Given the description of an element on the screen output the (x, y) to click on. 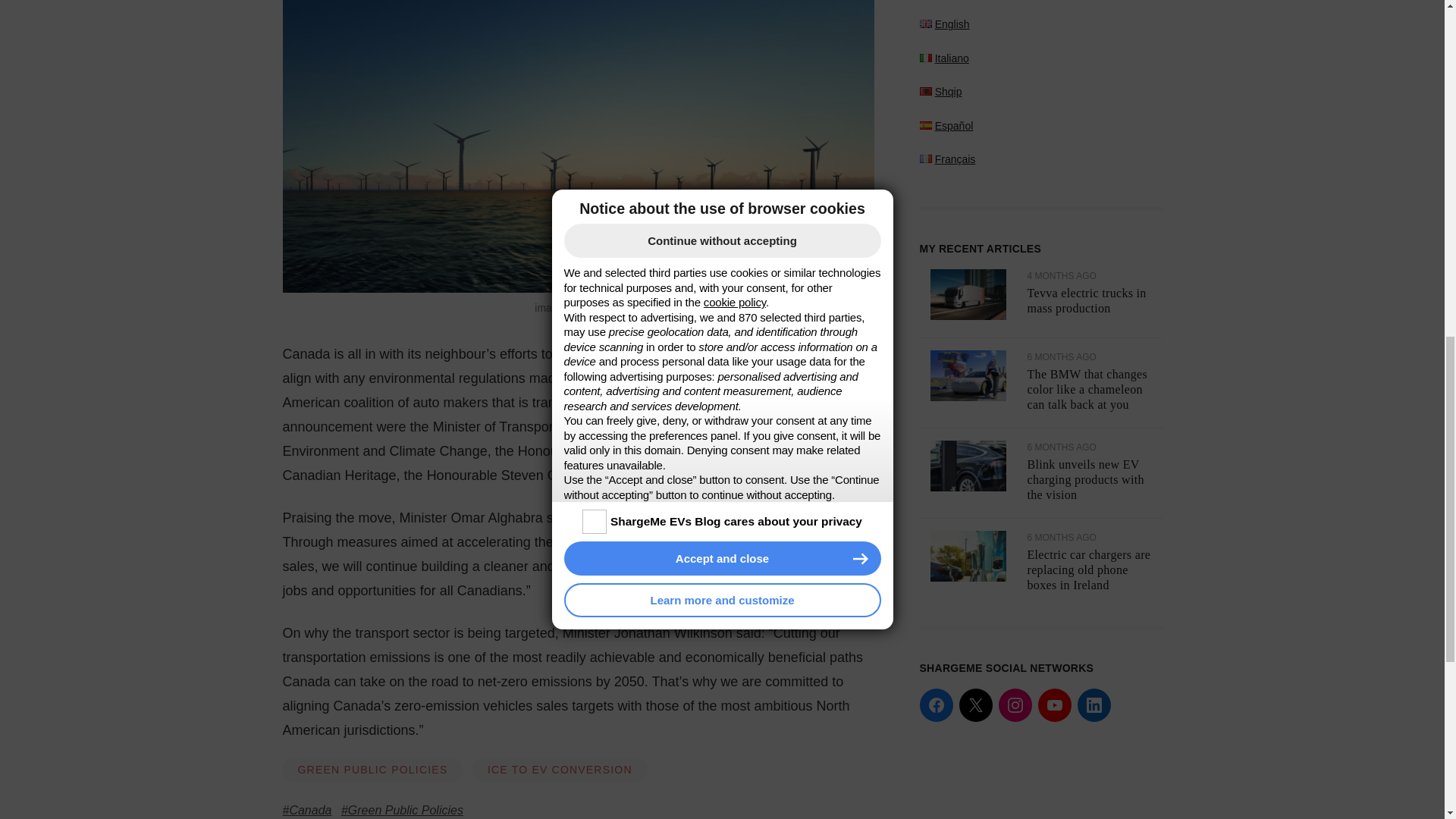
GREEN PUBLIC POLICIES (372, 769)
Twitter (974, 55)
Green Public Policies (401, 809)
Canada (306, 809)
YouTube (1053, 55)
LinkedIn (1093, 55)
Facebook (935, 55)
ICE TO EV CONVERSION (559, 769)
Instagram (1013, 55)
